Given the description of an element on the screen output the (x, y) to click on. 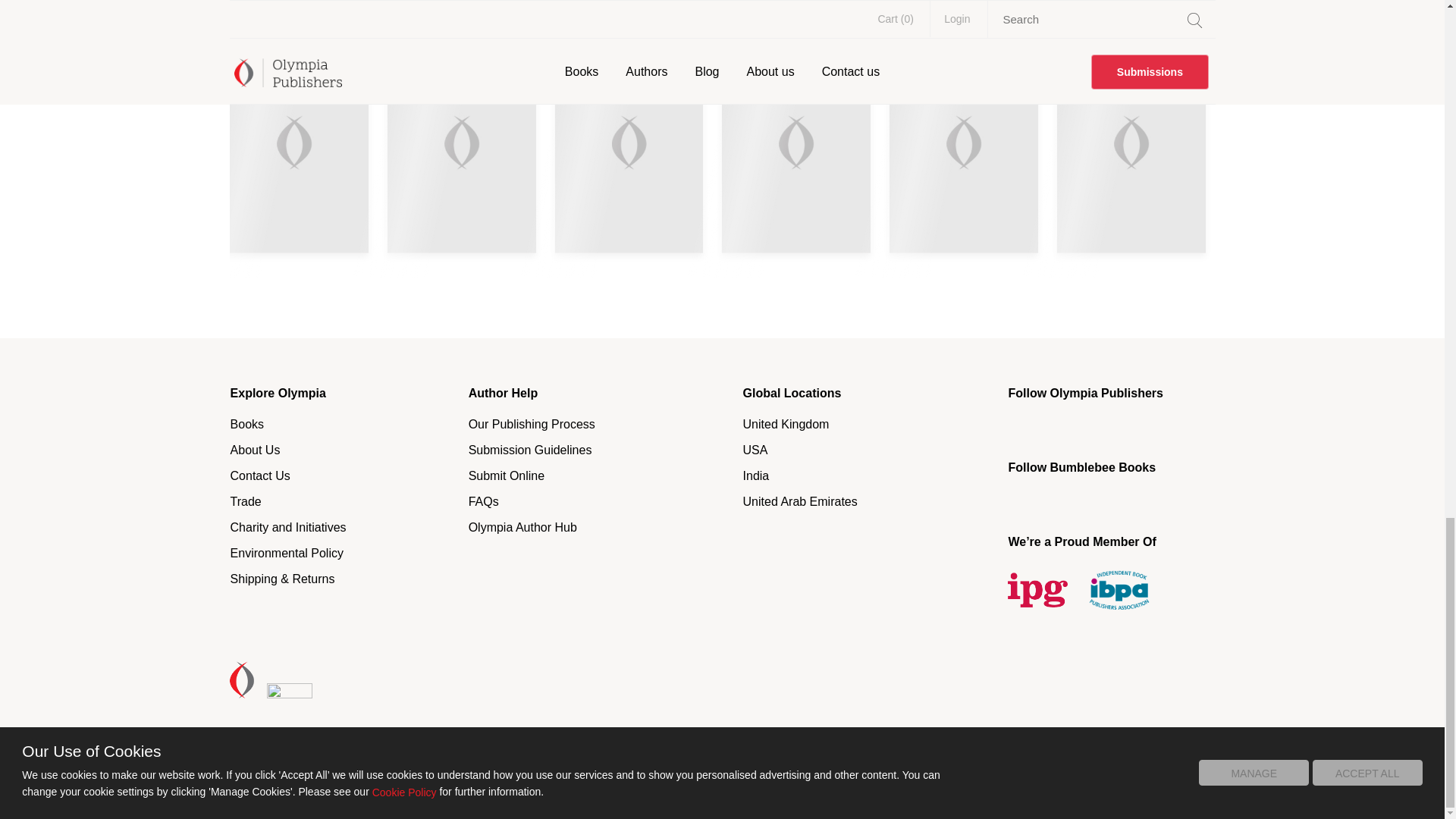
Follow Bumblebee on Instagram (1191, 500)
Like Us on Facebook (1015, 426)
Bumblebee Youtube Channel (1148, 500)
Our Youtube Channel (1148, 426)
Follow Bumblebee on Twitter (1059, 500)
Follow us on Instagram (1191, 426)
Like Bumblebee on Facebook (1015, 500)
Follow on Tiktok (1103, 500)
Follow us on Twitter (1059, 426)
Follow us on TikTok (1103, 426)
